Given the description of an element on the screen output the (x, y) to click on. 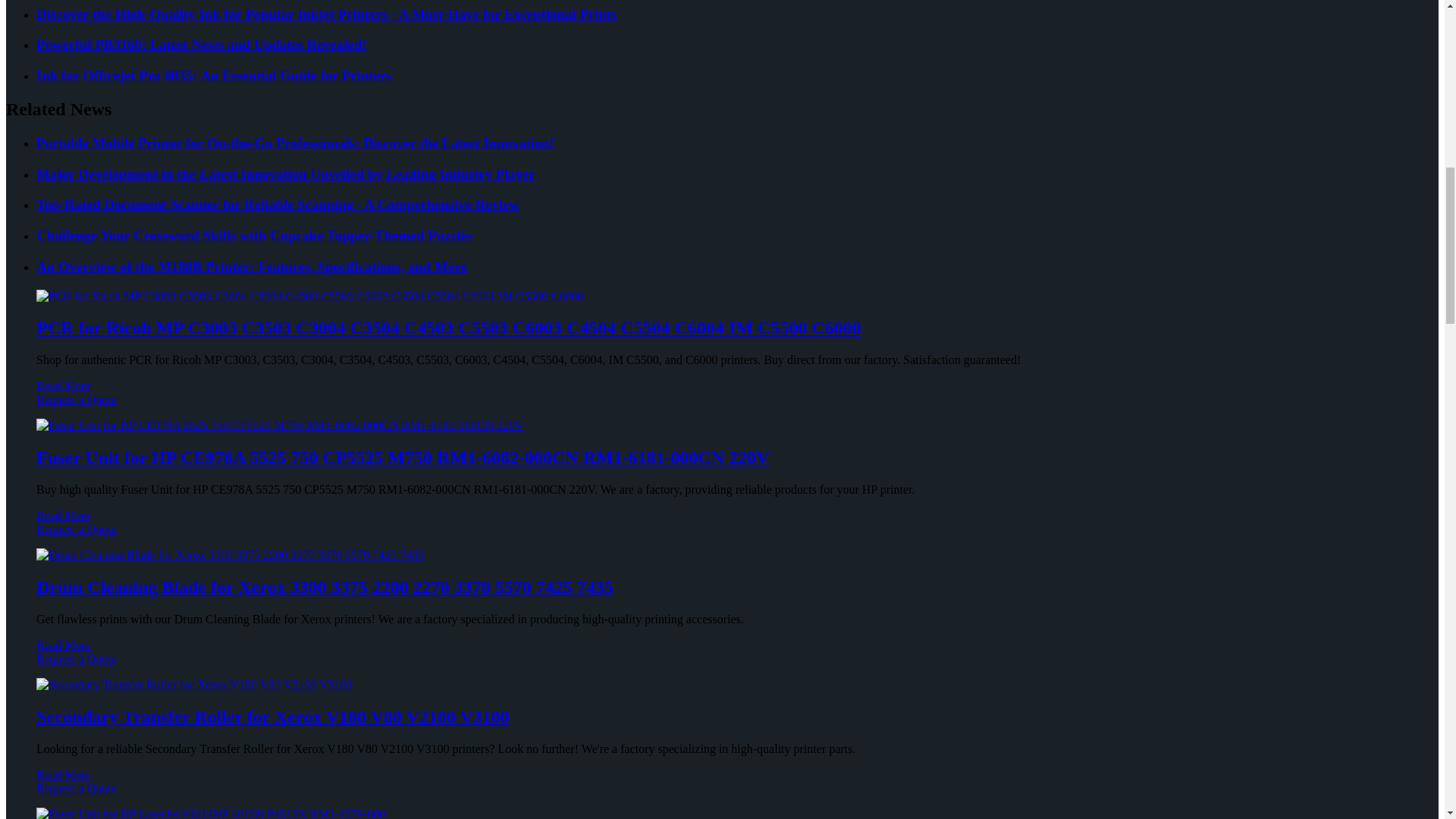
Request a Quote (721, 406)
Read More (63, 385)
